Given the description of an element on the screen output the (x, y) to click on. 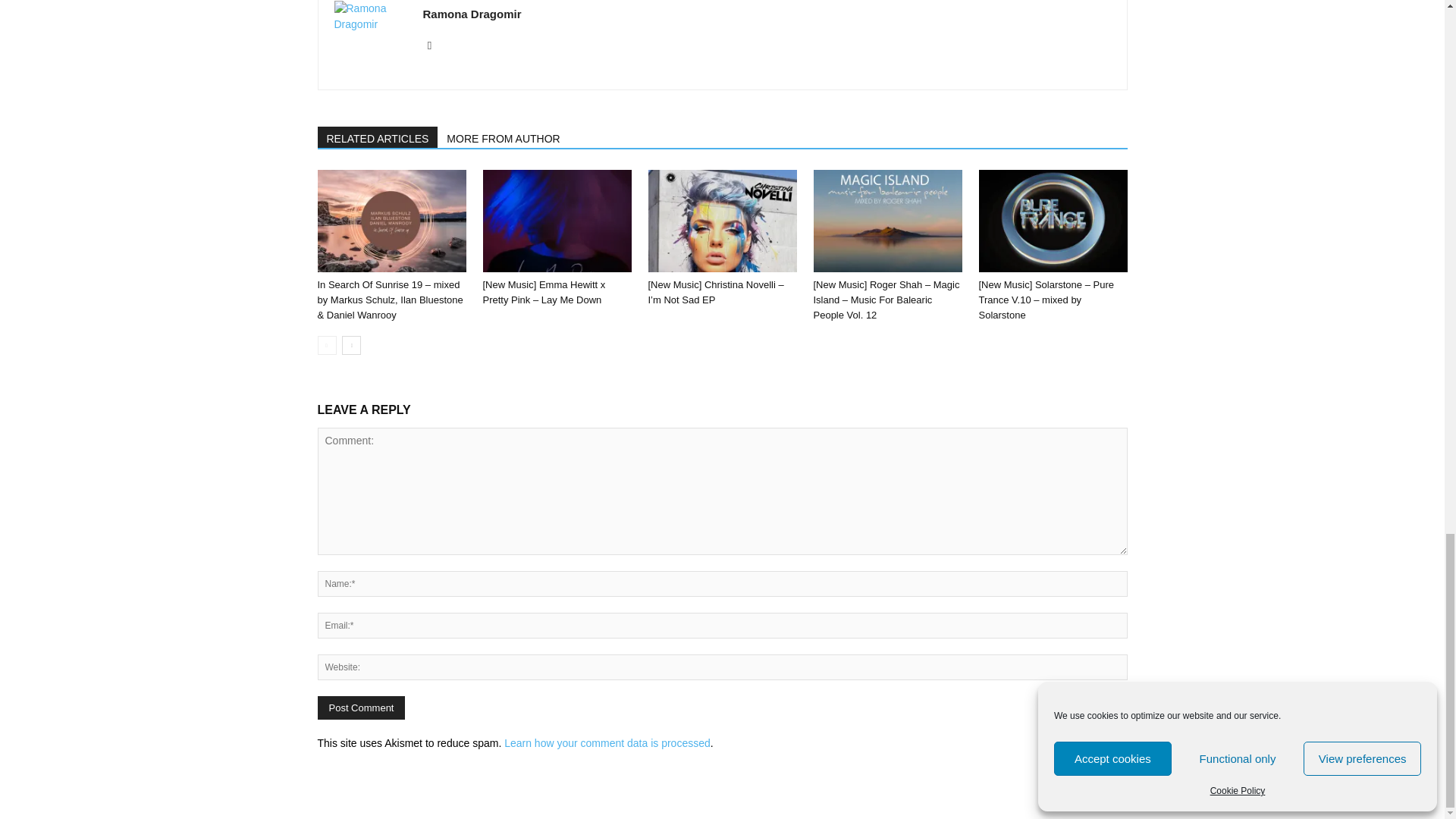
Post Comment (360, 707)
